Given the description of an element on the screen output the (x, y) to click on. 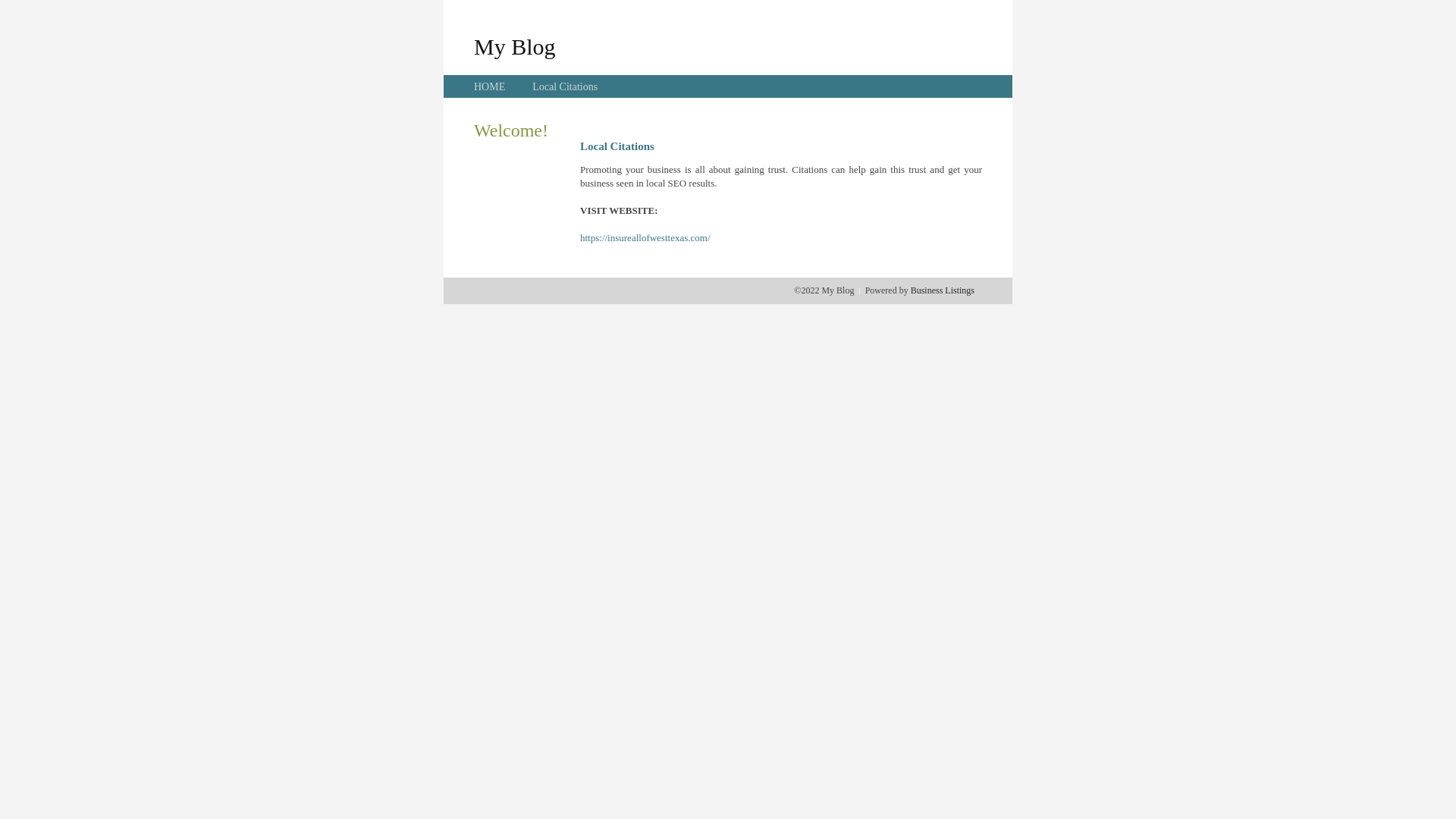
https://insureallofwesttexas.com/ Element type: text (645, 237)
HOME Element type: text (489, 86)
Business Listings Element type: text (942, 290)
Local Citations Element type: text (564, 86)
My Blog Element type: text (514, 46)
